Given the description of an element on the screen output the (x, y) to click on. 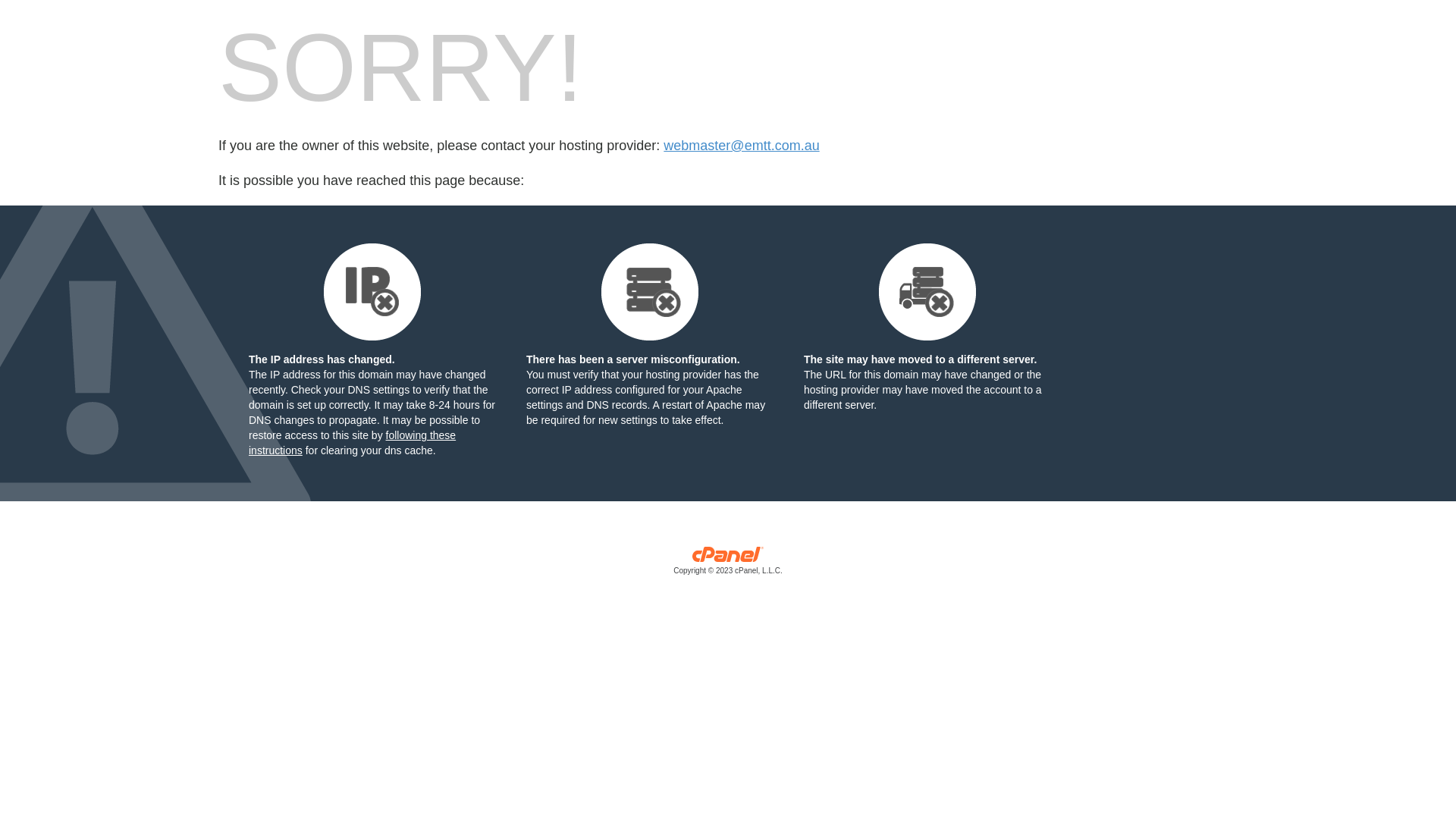
following these instructions Element type: text (351, 442)
webmaster@emtt.com.au Element type: text (741, 145)
